Given the description of an element on the screen output the (x, y) to click on. 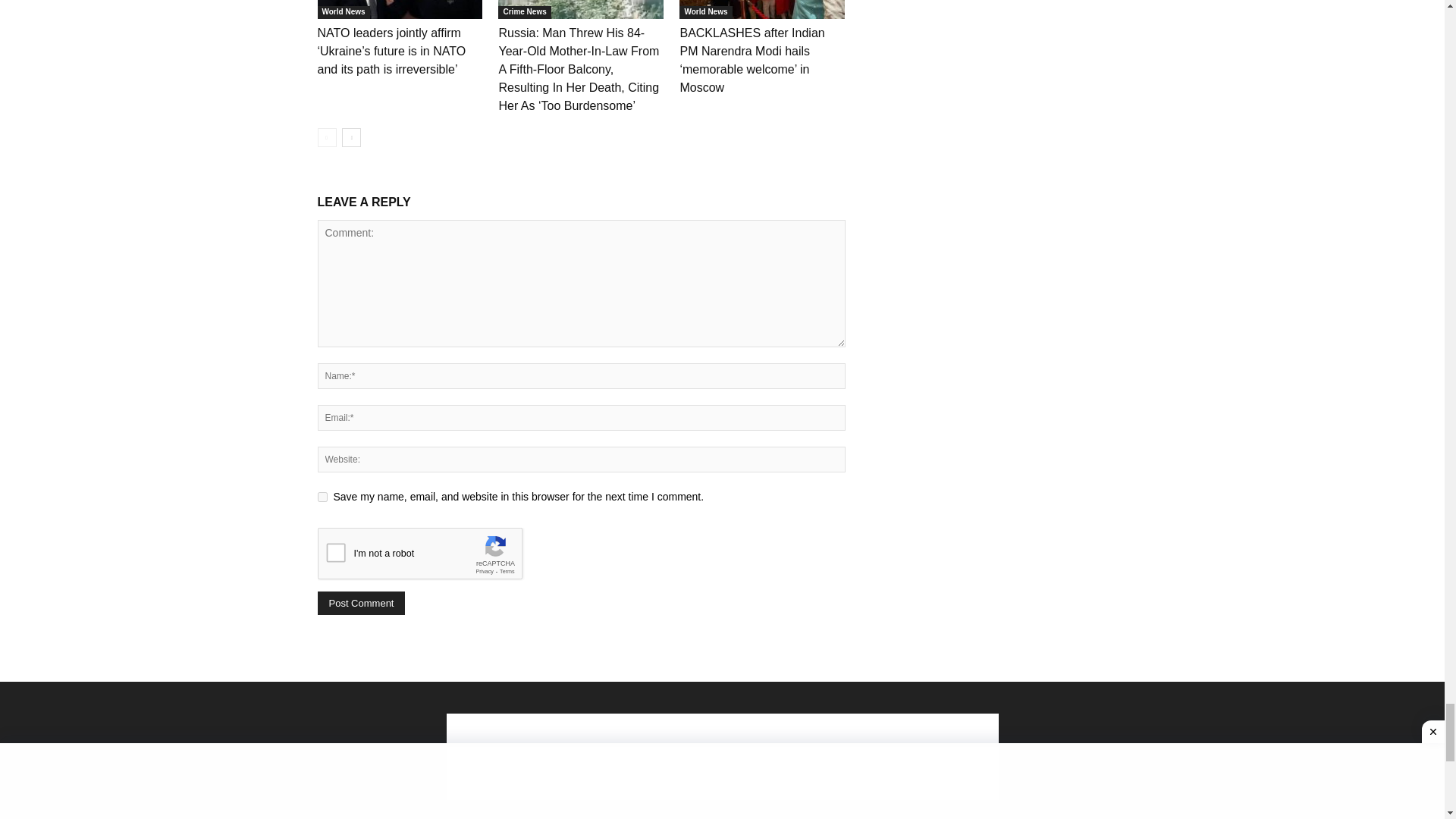
Post Comment (360, 603)
yes (321, 497)
